Given the description of an element on the screen output the (x, y) to click on. 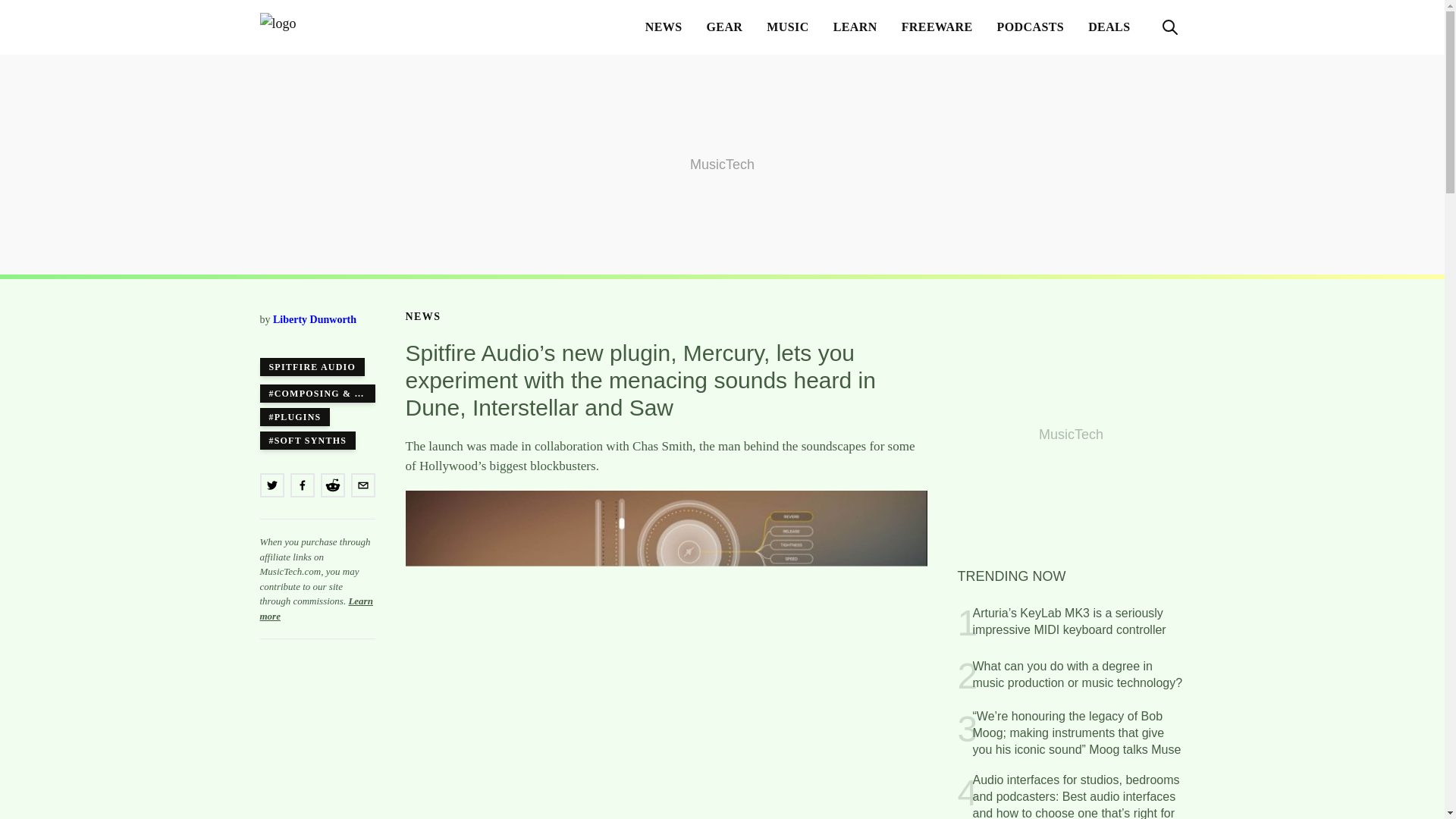
SPITFIRE AUDIO (312, 366)
PODCASTS (1030, 27)
Soft Synths (307, 440)
Spitfire Audio (312, 366)
LEARN (855, 27)
DEALS (1108, 27)
GEAR (724, 27)
MusicTech (334, 27)
Plugins (294, 416)
Published August 26, 2022 3:03PM (316, 335)
